Given the description of an element on the screen output the (x, y) to click on. 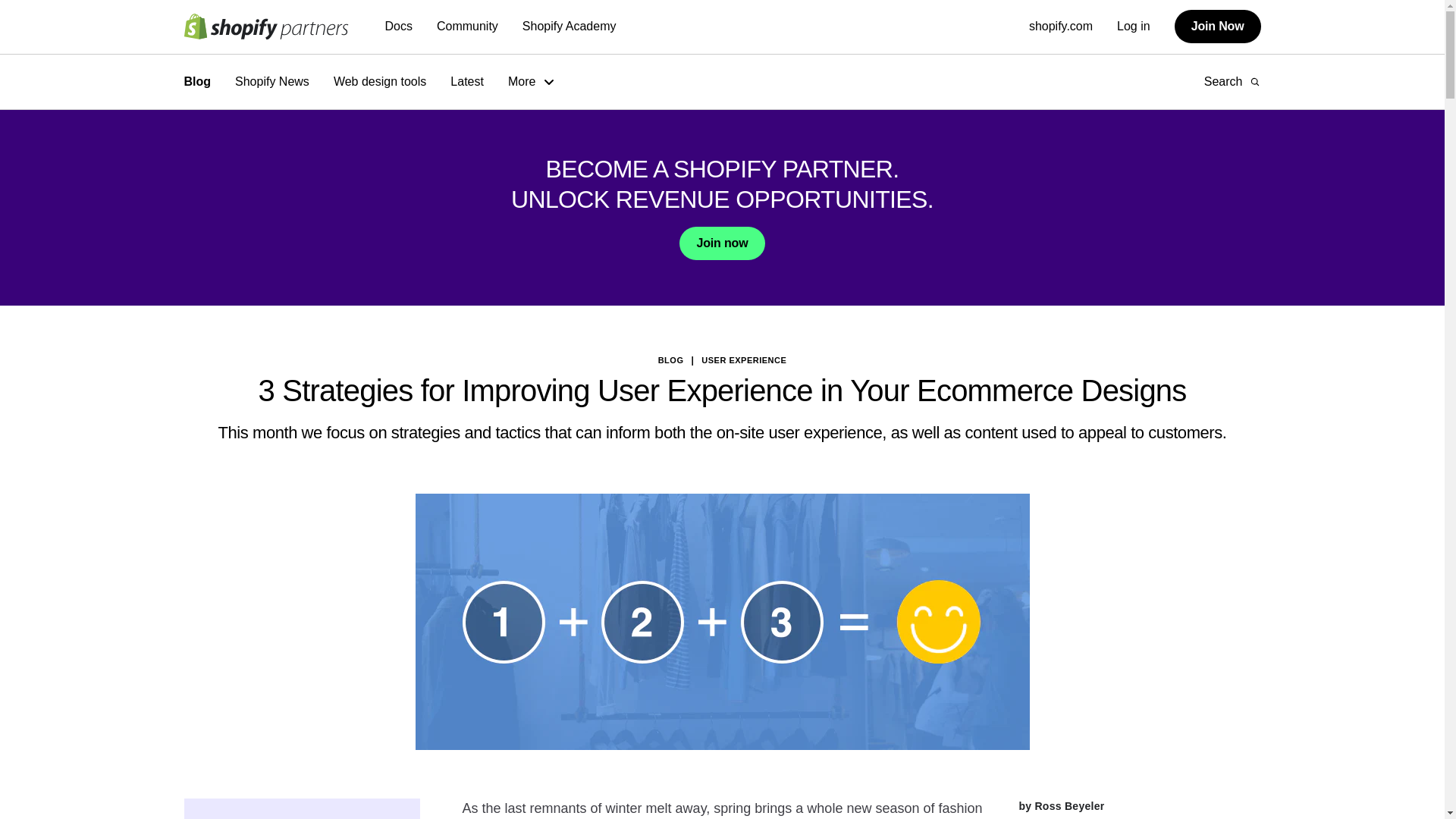
Shopify News (271, 81)
More (532, 81)
Community (466, 27)
Shopify Academy (568, 27)
Log in (1133, 25)
shopify.com (1061, 25)
Web design tools (379, 81)
Join Now (1217, 26)
